Given the description of an element on the screen output the (x, y) to click on. 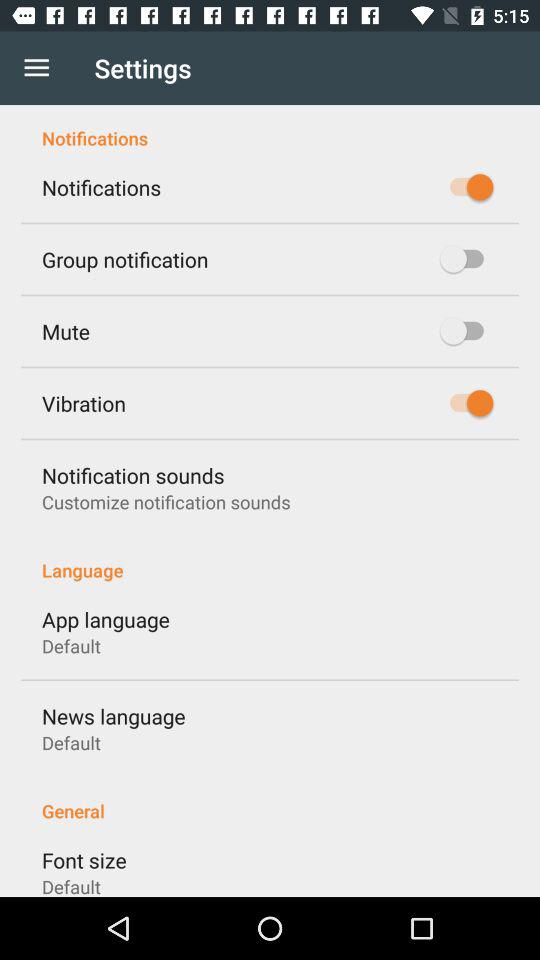
tap the item below default (270, 800)
